Given the description of an element on the screen output the (x, y) to click on. 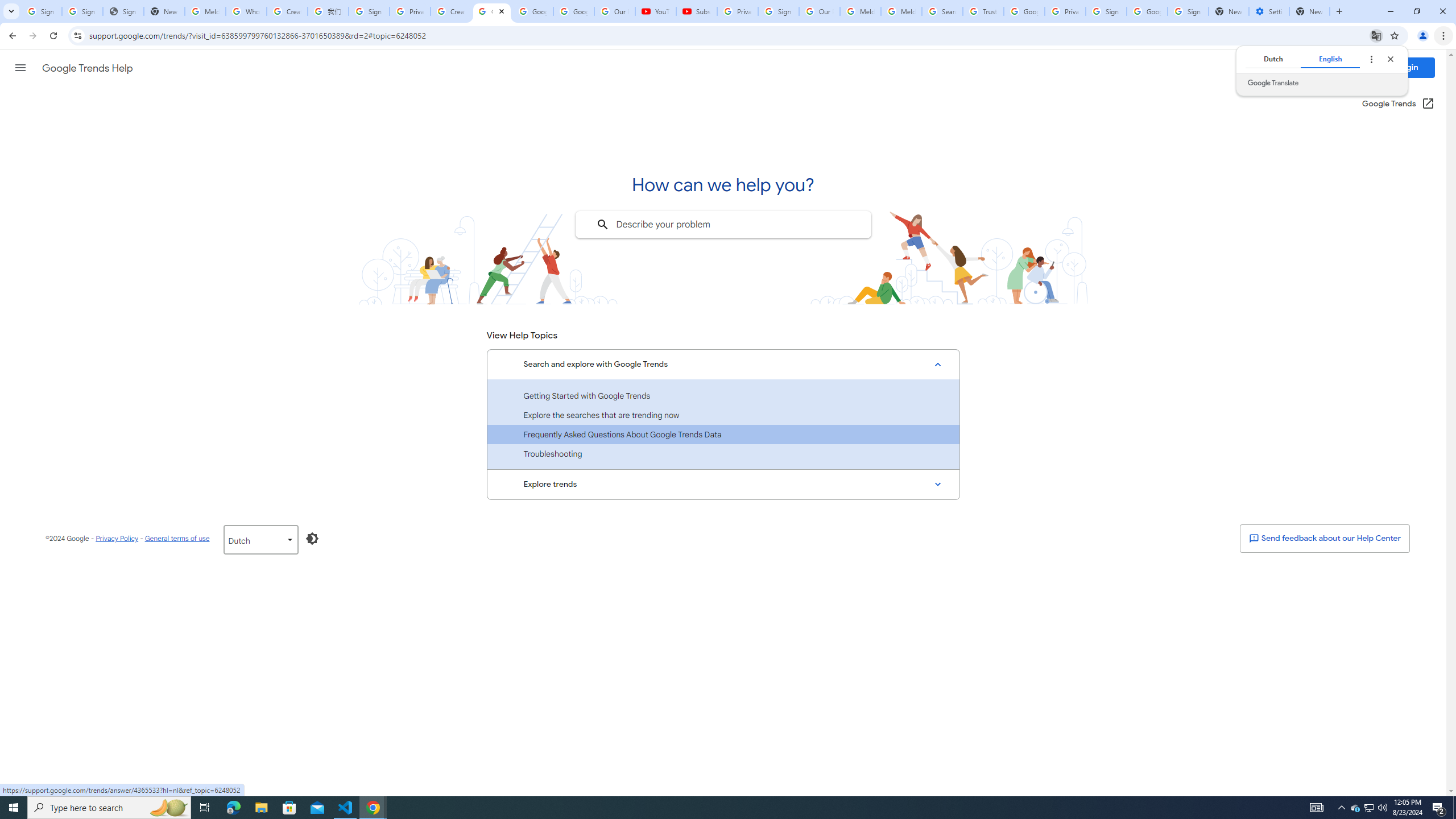
Search our Doodle Library Collection - Google Doodles (942, 11)
New Tab (1309, 11)
Sign In - USA TODAY (122, 11)
Google Account (573, 11)
Create your Google Account (287, 11)
Sign in - Google Accounts (368, 11)
Login (1407, 67)
Google Cybersecurity Innovations - Google Safety Center (1146, 11)
YouTube (655, 11)
